Given the description of an element on the screen output the (x, y) to click on. 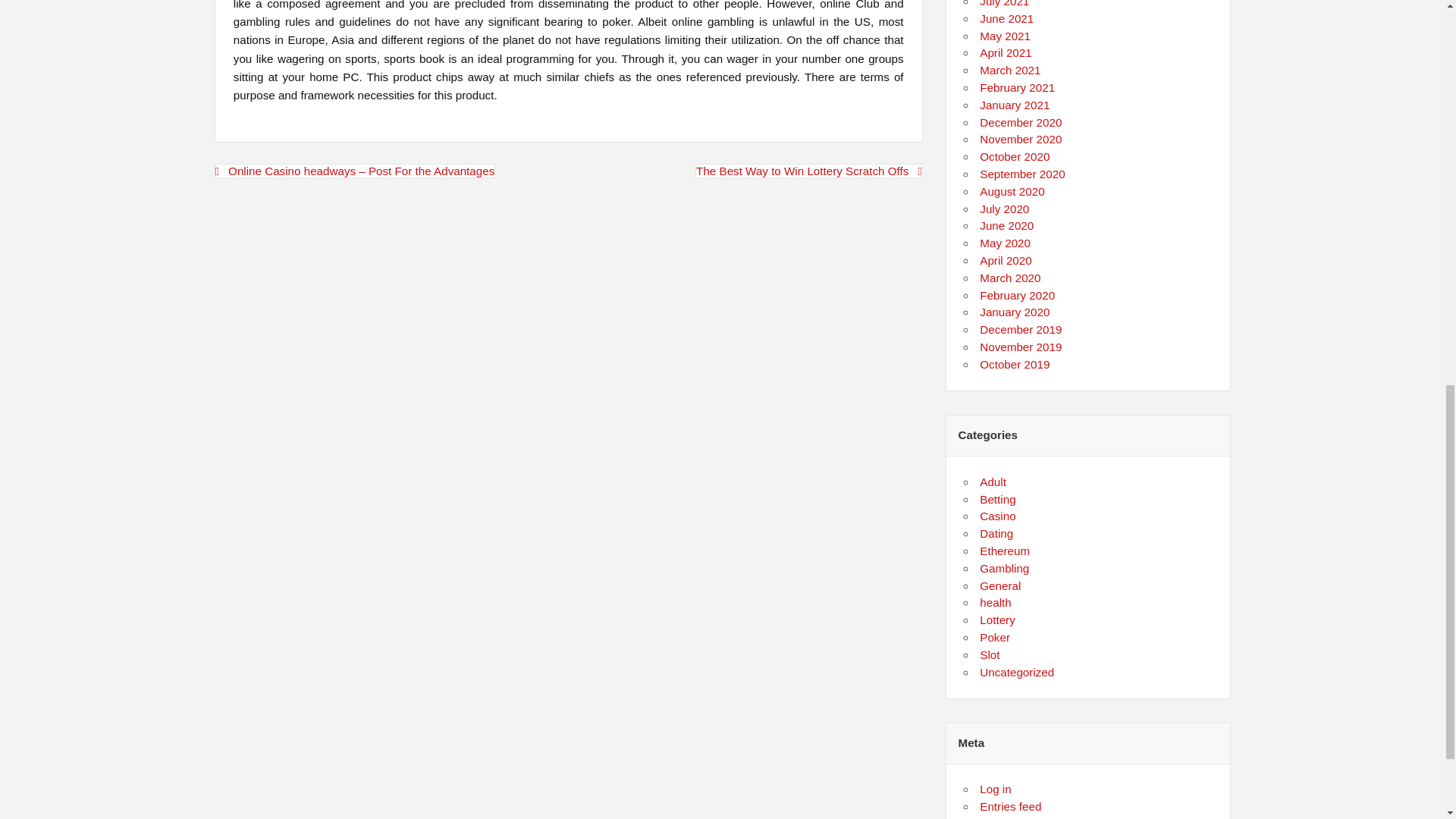
The Best Way to Win Lottery Scratch Offs (809, 170)
